Given the description of an element on the screen output the (x, y) to click on. 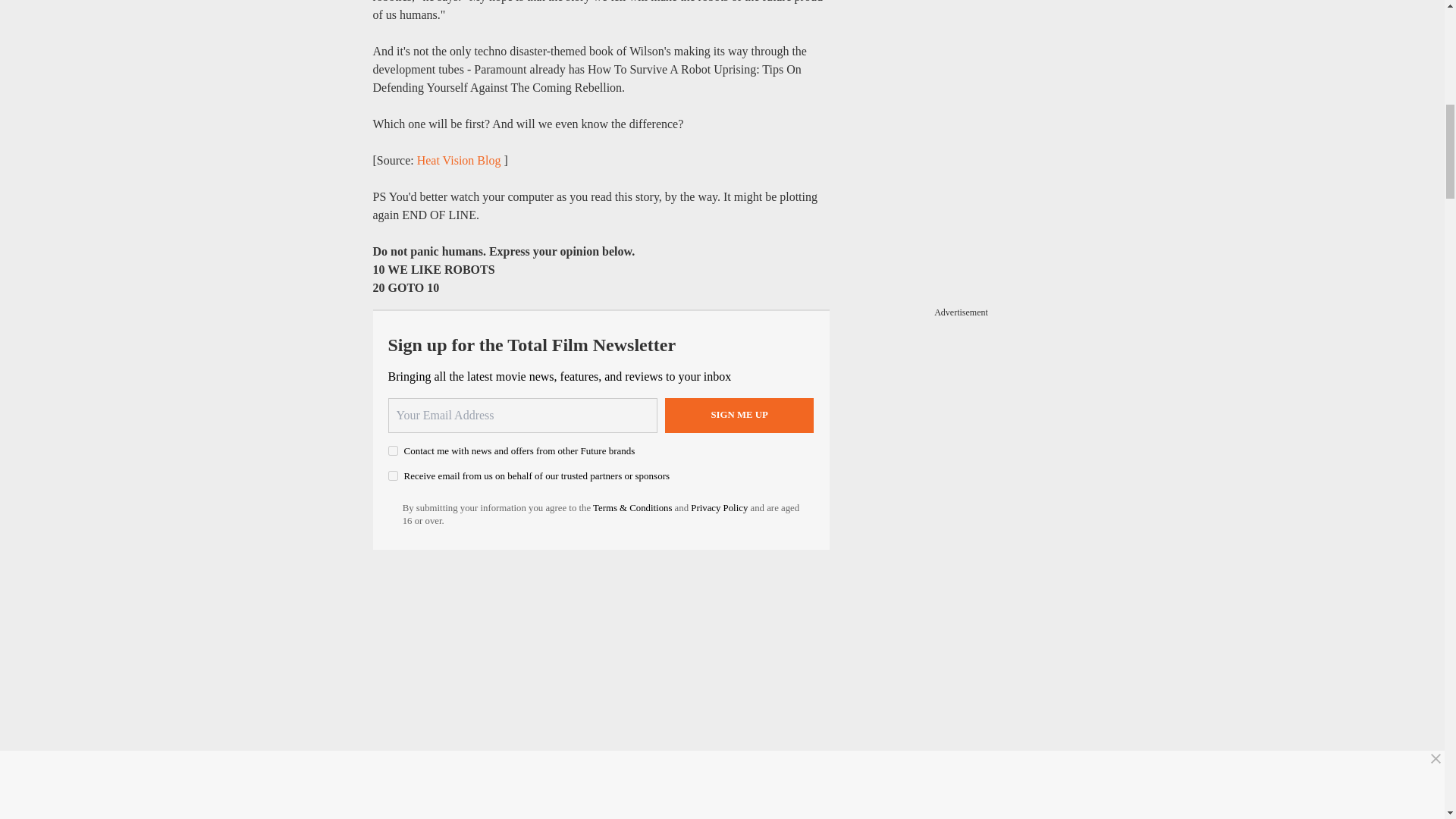
Sign me up (739, 414)
